Given the description of an element on the screen output the (x, y) to click on. 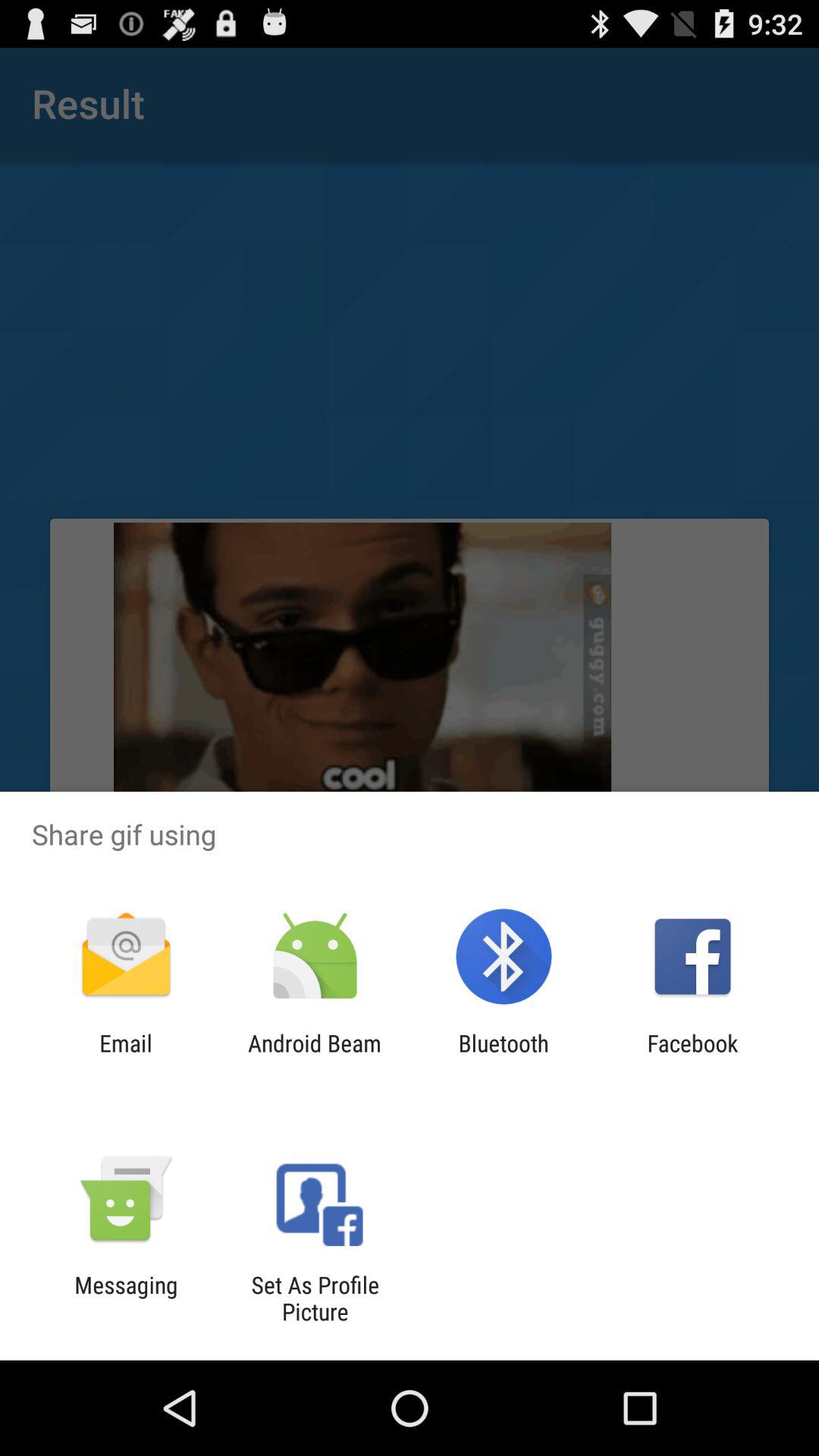
jump to the messaging (126, 1298)
